Given the description of an element on the screen output the (x, y) to click on. 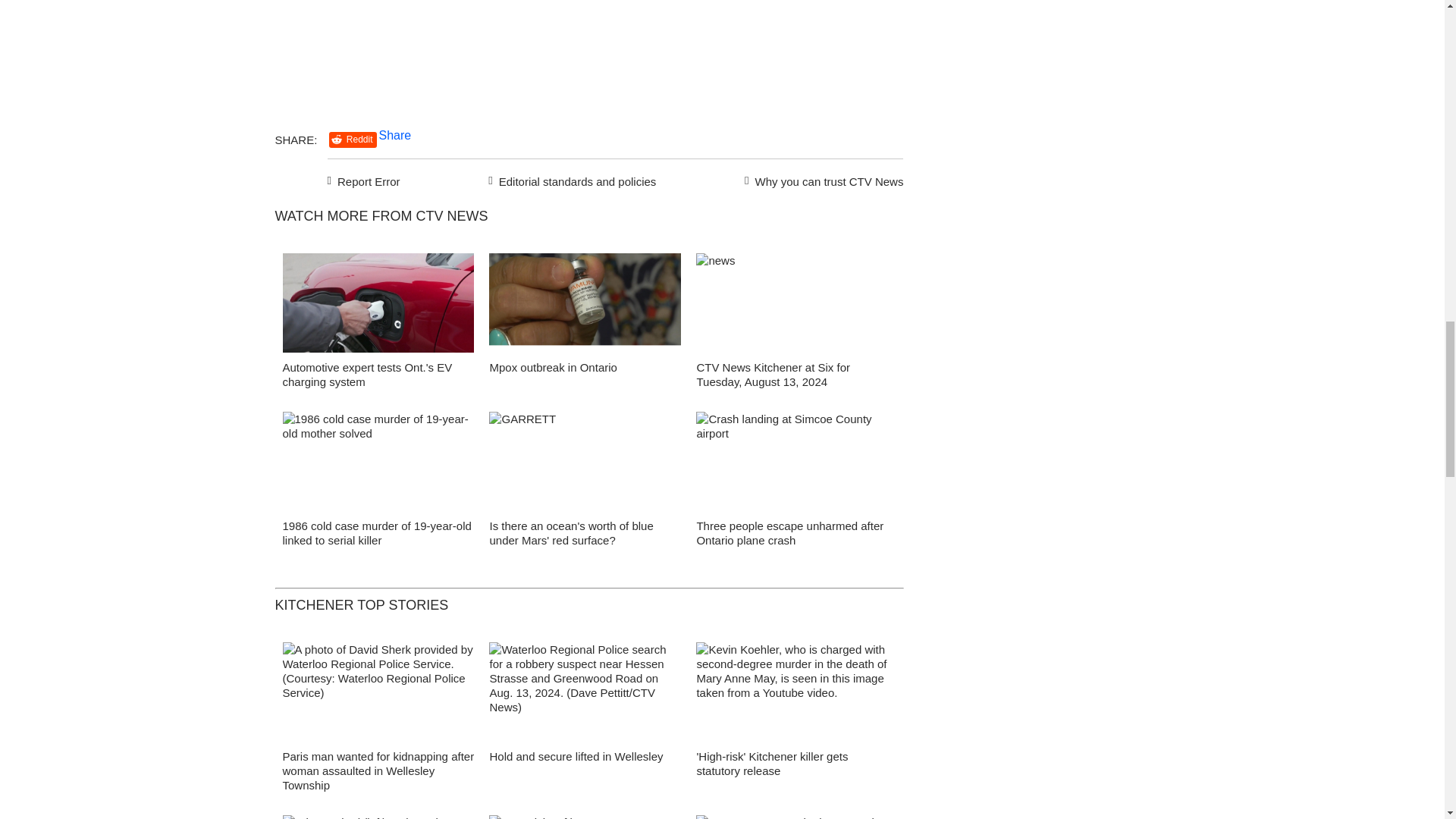
1986 cold case murder of 19-year-old mother solved (378, 465)
Reddit (353, 139)
David Sherk (378, 696)
Editorial standards and policies (569, 179)
false (378, 461)
false (791, 461)
1986 cold case murder of 19-year-old linked to serial killer (376, 533)
false (378, 302)
Crash landing at Simcoe County airport (791, 465)
waterloo regional police wellesley Hessen Strasse (585, 696)
